Given the description of an element on the screen output the (x, y) to click on. 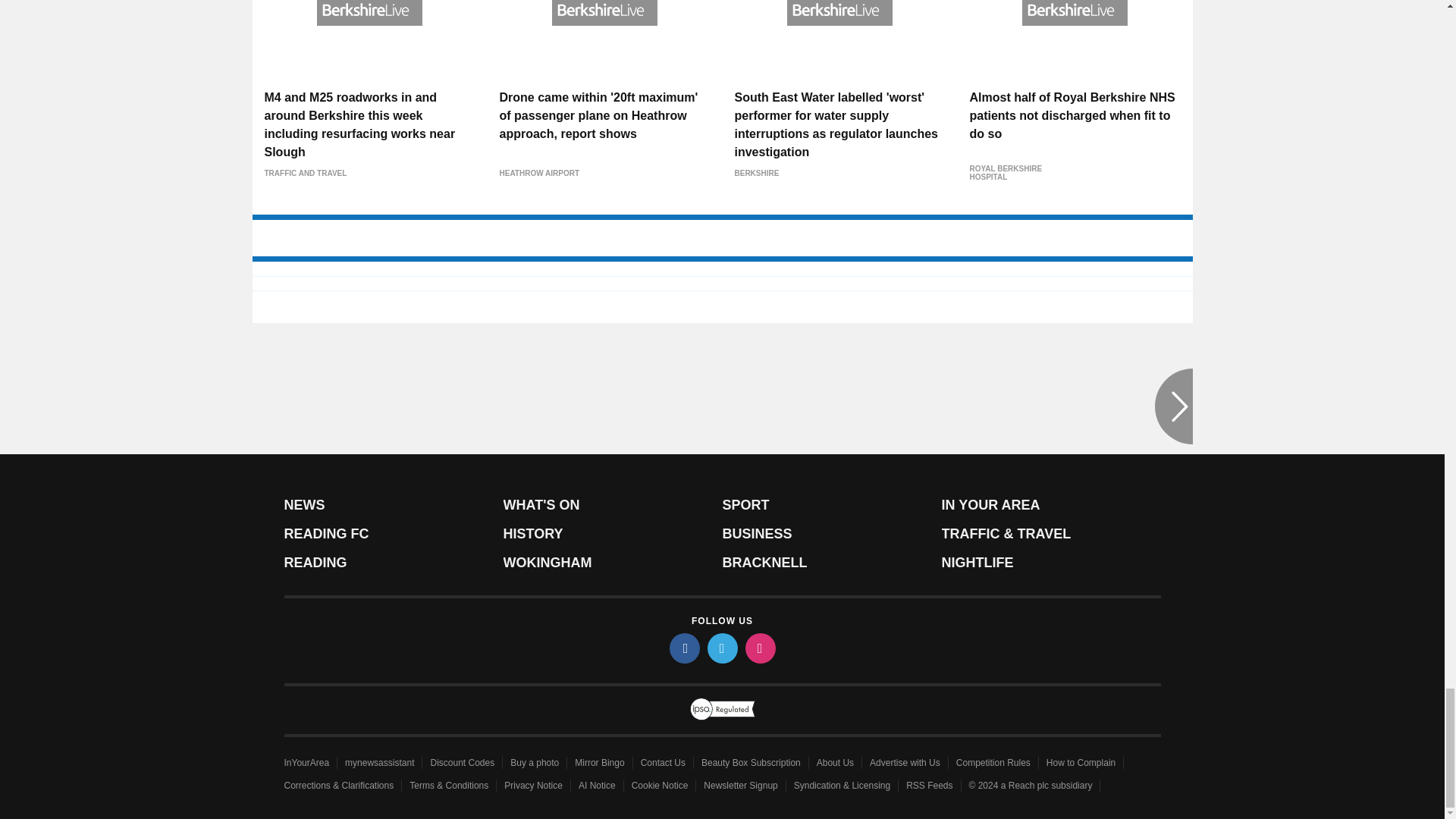
facebook (683, 648)
instagram (759, 648)
twitter (721, 648)
